Given the description of an element on the screen output the (x, y) to click on. 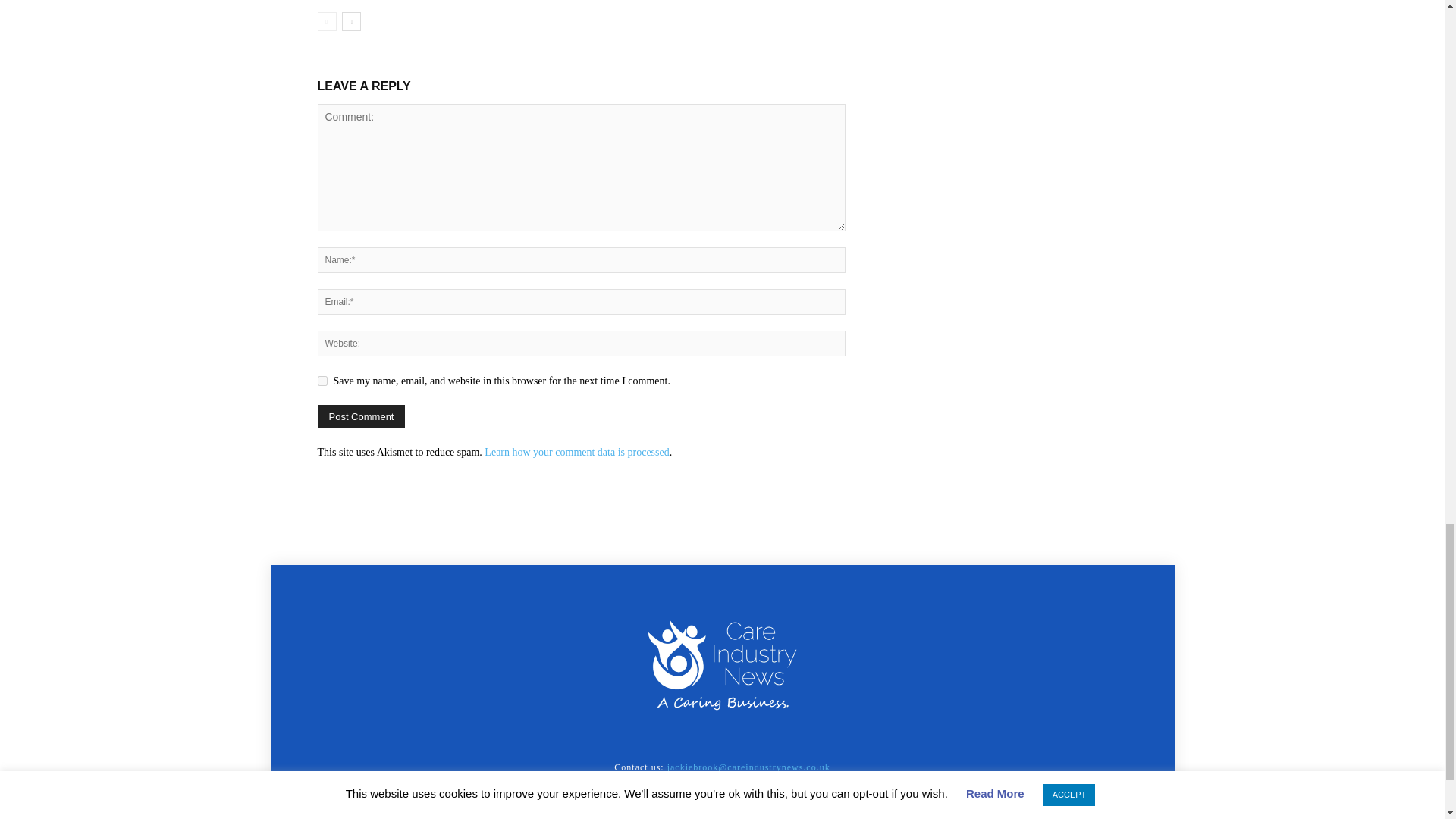
yes (321, 380)
Post Comment (360, 416)
